Given the description of an element on the screen output the (x, y) to click on. 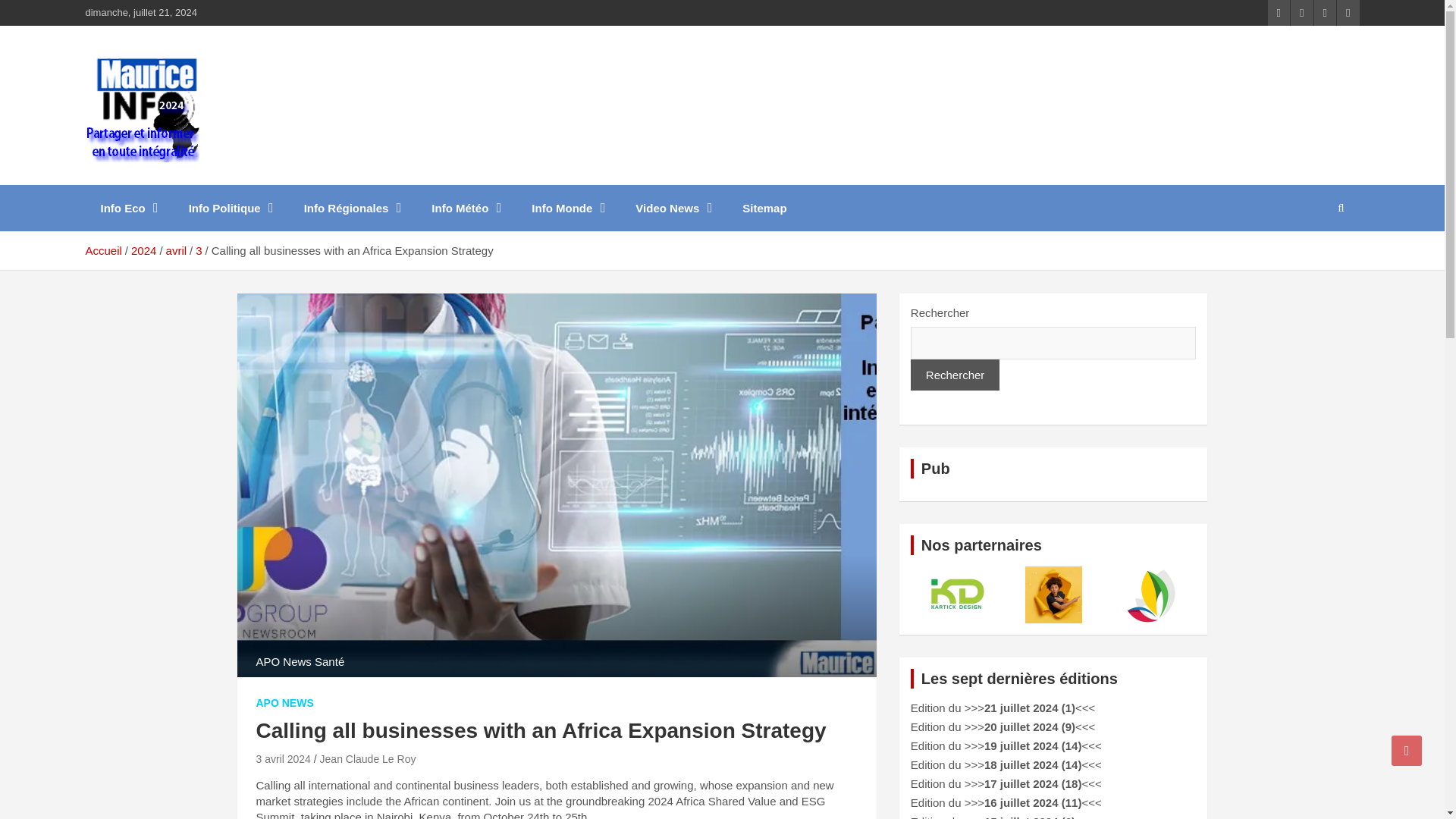
Info Politique (230, 207)
Calling all businesses with an Africa Expansion Strategy (283, 758)
3 avril 2024 (283, 758)
Maurice Info (173, 182)
Aller en haut (1406, 750)
2024 (143, 250)
Info Eco (128, 207)
Video News (673, 207)
Rechercher (955, 374)
